Given the description of an element on the screen output the (x, y) to click on. 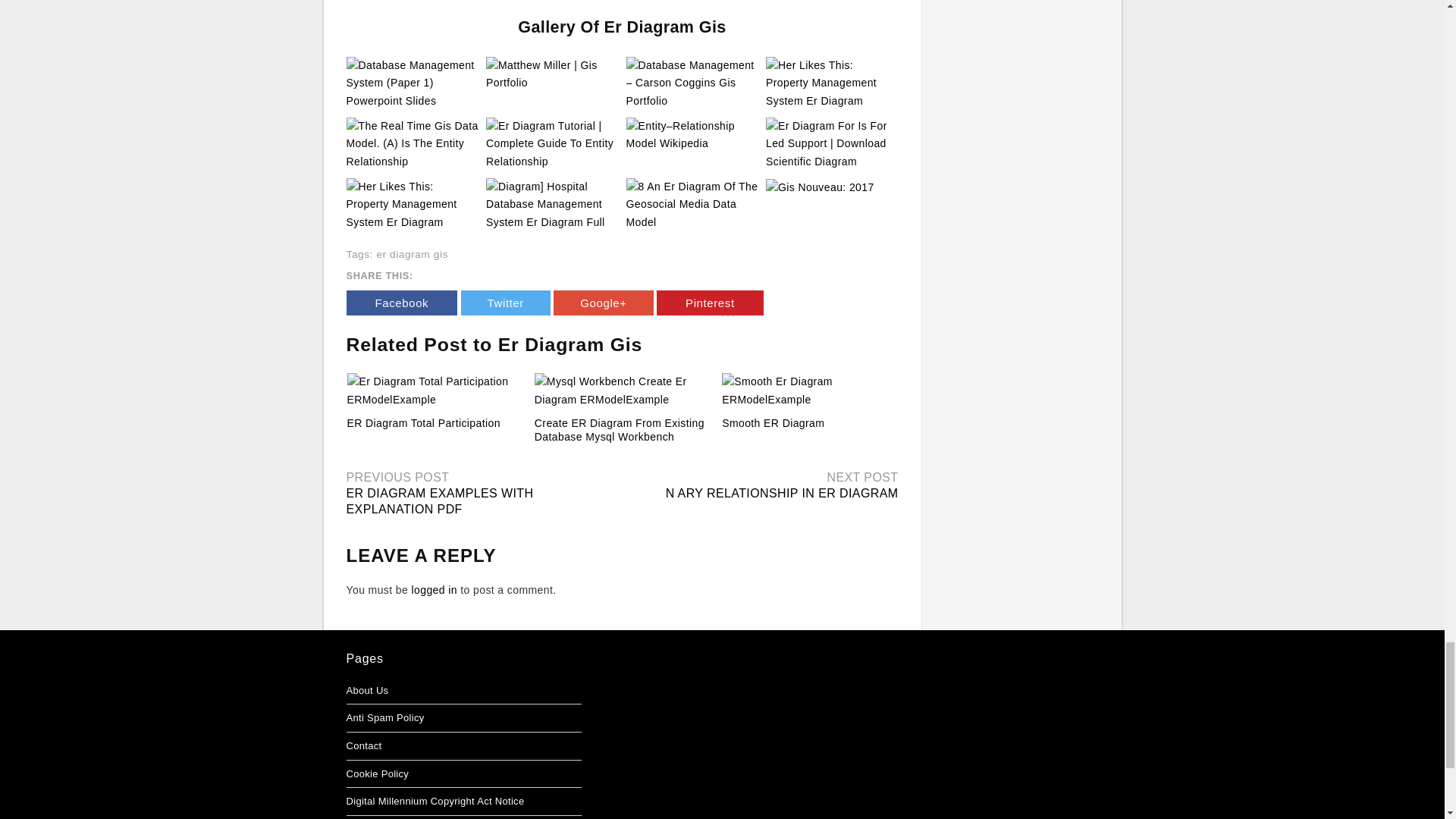
Twitter (505, 302)
Create ER Diagram From Existing Database Mysql Workbench (619, 429)
Smooth ER Diagram (773, 422)
N ARY RELATIONSHIP IN ER DIAGRAM (781, 492)
Her Likes This: Property Management System Er Diagram (831, 82)
Facebook (401, 302)
Her Likes This: Property Management System Er Diagram (831, 82)
ER DIAGRAM EXAMPLES WITH EXPLANATION PDF (439, 500)
er diagram gis (411, 254)
Pinterest (709, 302)
logged in (434, 589)
ER Diagram Total Participation (423, 422)
